Given the description of an element on the screen output the (x, y) to click on. 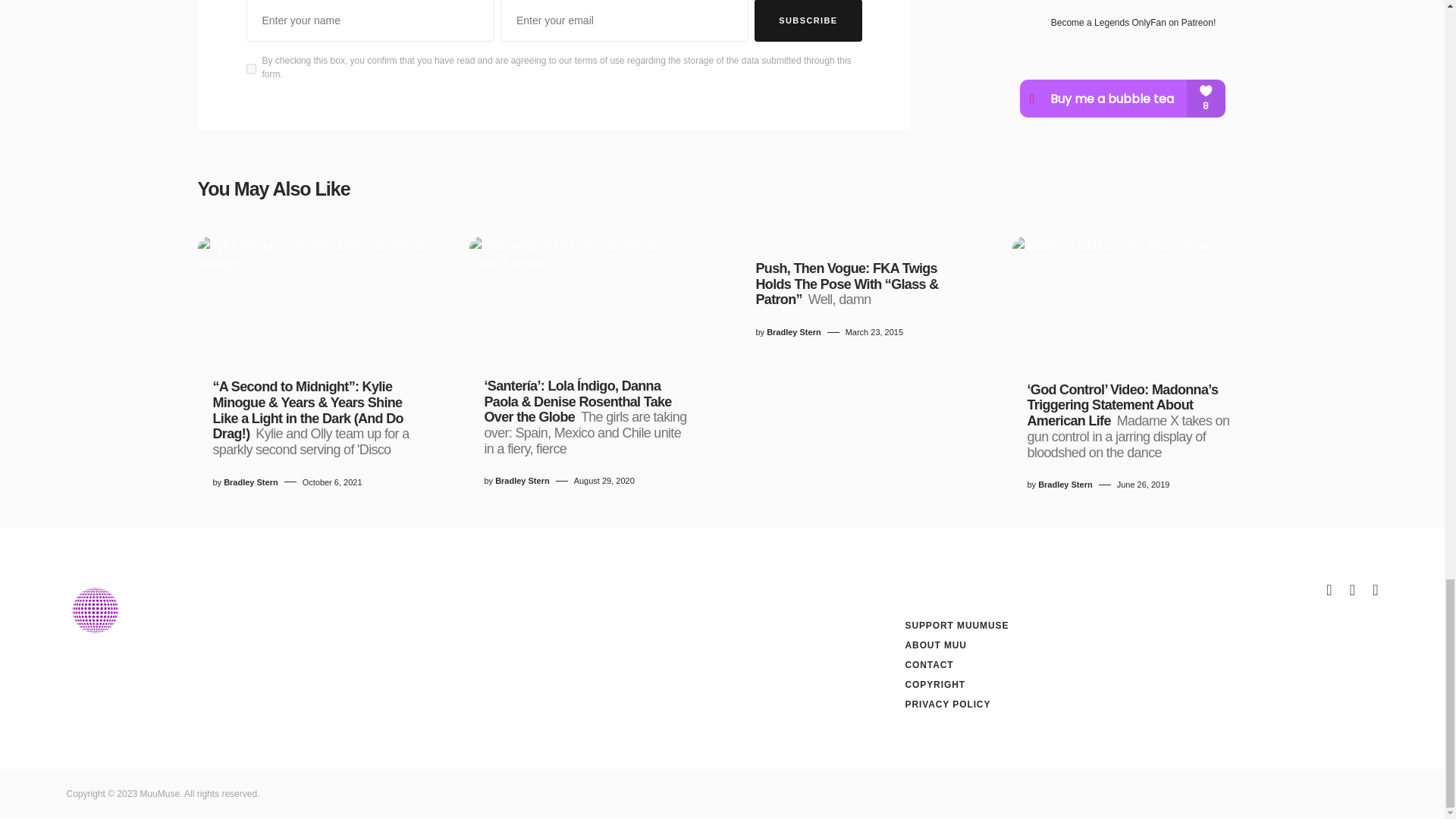
View all posts by Bradley Stern (251, 481)
View all posts by Bradley Stern (522, 481)
View all posts by Bradley Stern (1065, 484)
View all posts by Bradley Stern (794, 332)
